Given the description of an element on the screen output the (x, y) to click on. 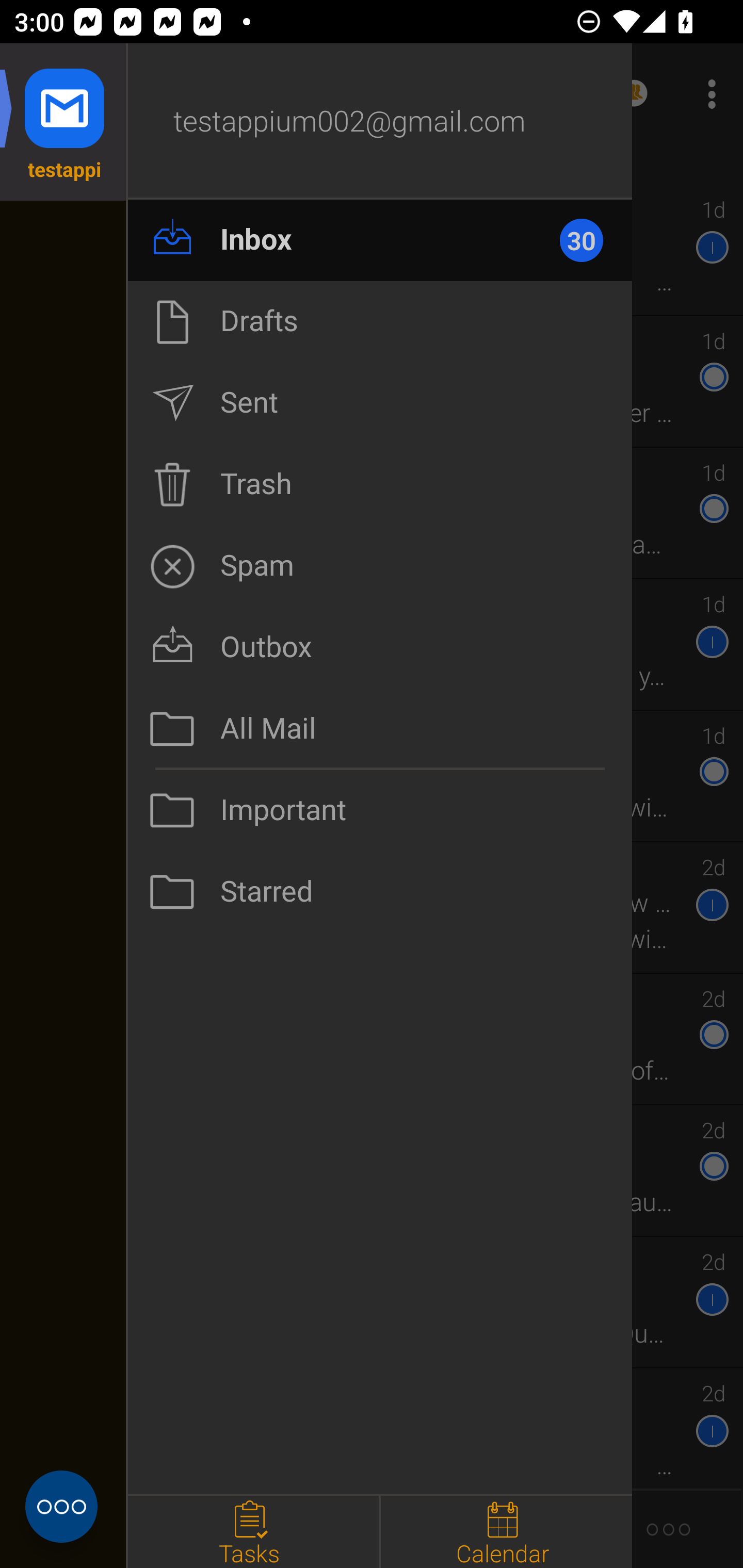
Navigate up (81, 93)
testappium002@gmail.com (379, 121)
Updated 3:00 PM (371, 164)
Inbox 30 (379, 239)
30 (590, 239)
Drafts (379, 321)
Sent (379, 402)
Trash (379, 484)
Spam (379, 565)
Outbox (379, 647)
All Mail (379, 728)
Important (379, 810)
Starred (379, 891)
